Given the description of an element on the screen output the (x, y) to click on. 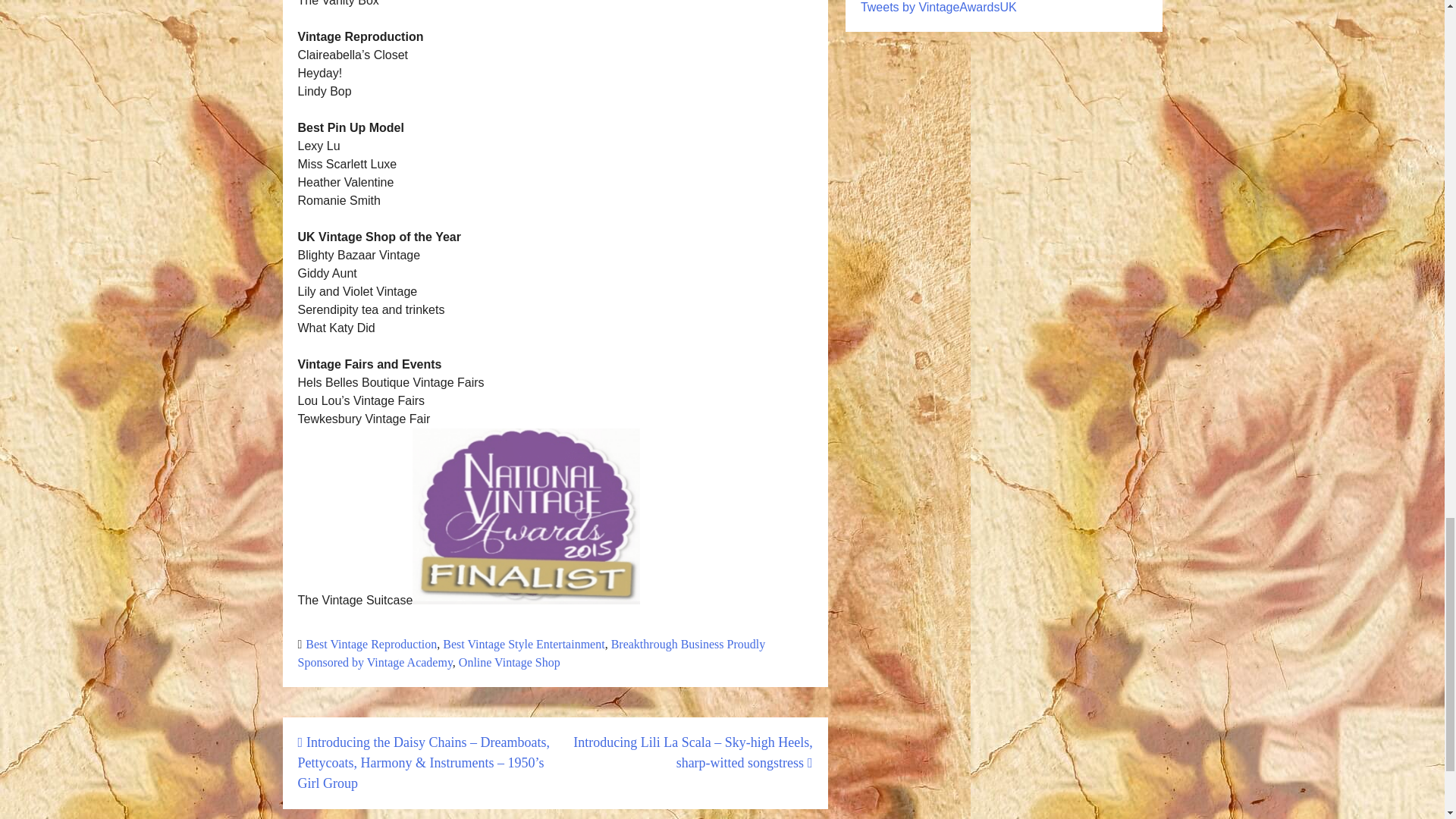
Tweets by VintageAwardsUK (938, 6)
Online Vintage Shop (509, 662)
Best Vintage Reproduction (370, 644)
Best Vintage Style Entertainment (523, 644)
Breakthrough Business Proudly Sponsored by Vintage Academy (531, 653)
